Given the description of an element on the screen output the (x, y) to click on. 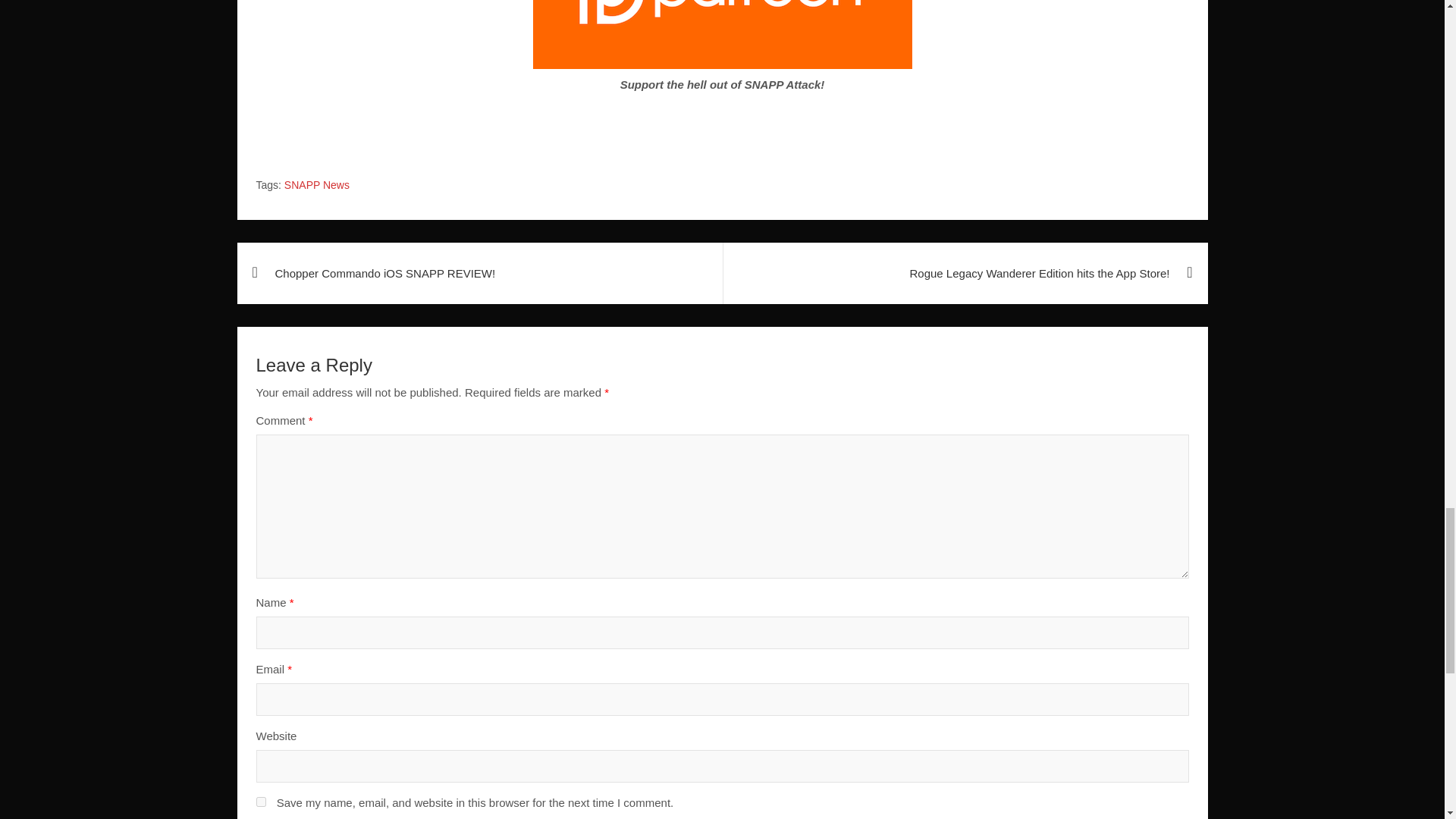
Rogue Legacy Wanderer Edition hits the App Store! (964, 272)
Chopper Commando iOS SNAPP REVIEW! (478, 272)
yes (261, 801)
SNAPP News (316, 185)
